Given the description of an element on the screen output the (x, y) to click on. 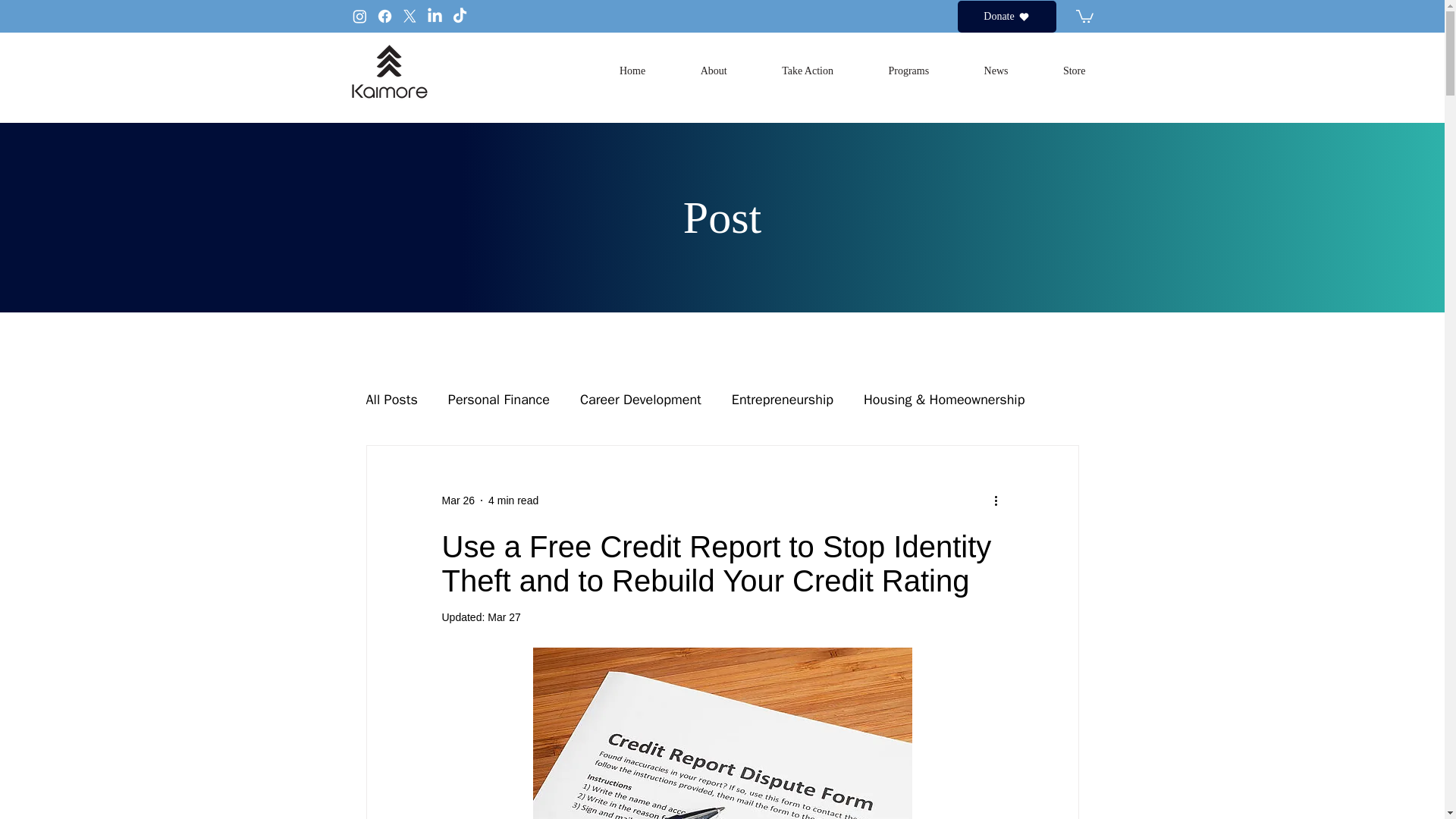
About (696, 71)
Donate (1005, 16)
Home (615, 71)
Mar 26 (457, 500)
Mar 27 (504, 616)
4 min read (512, 500)
